Given the description of an element on the screen output the (x, y) to click on. 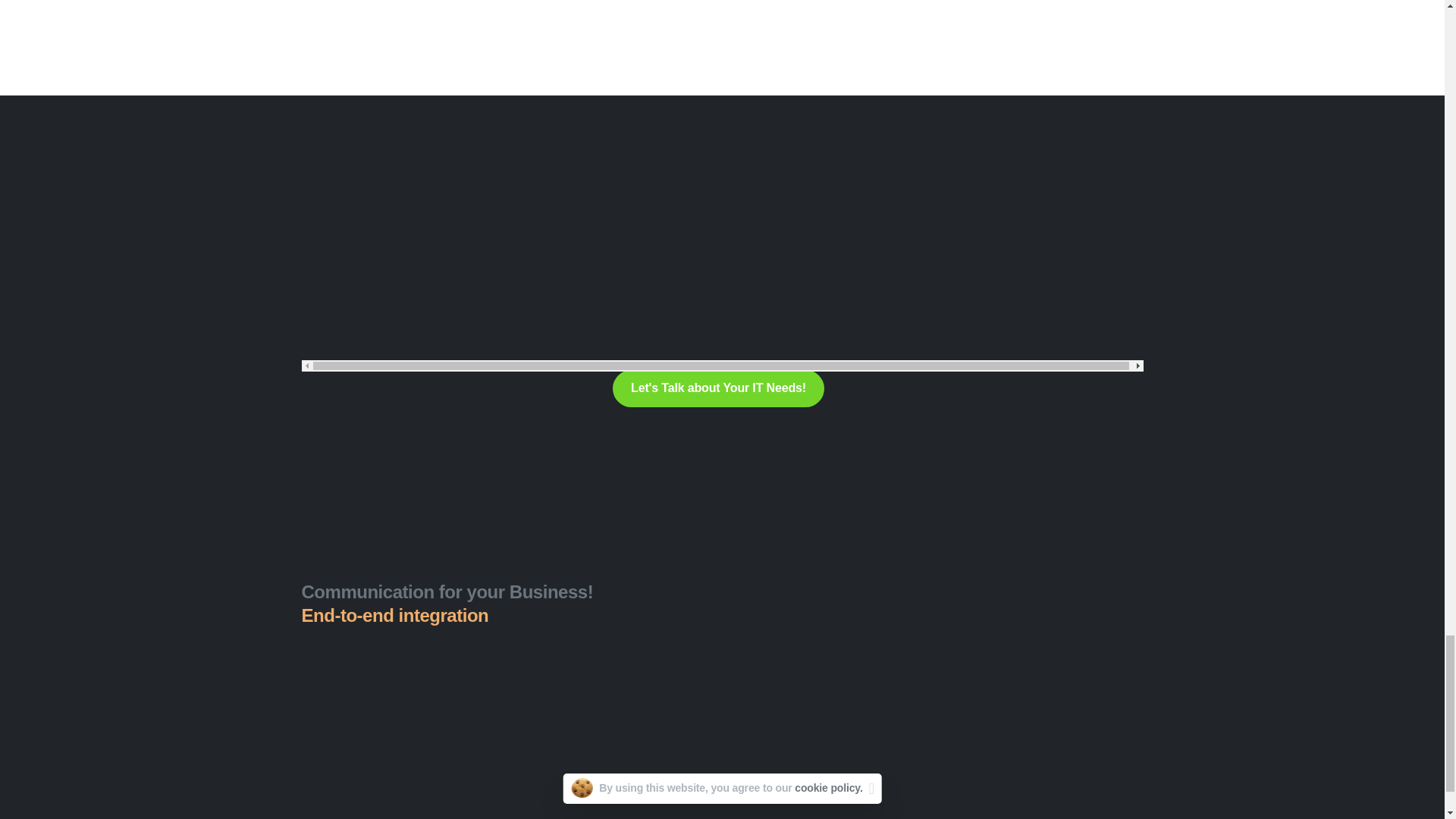
Let's Talk about Your IT Needs! (718, 388)
